Given the description of an element on the screen output the (x, y) to click on. 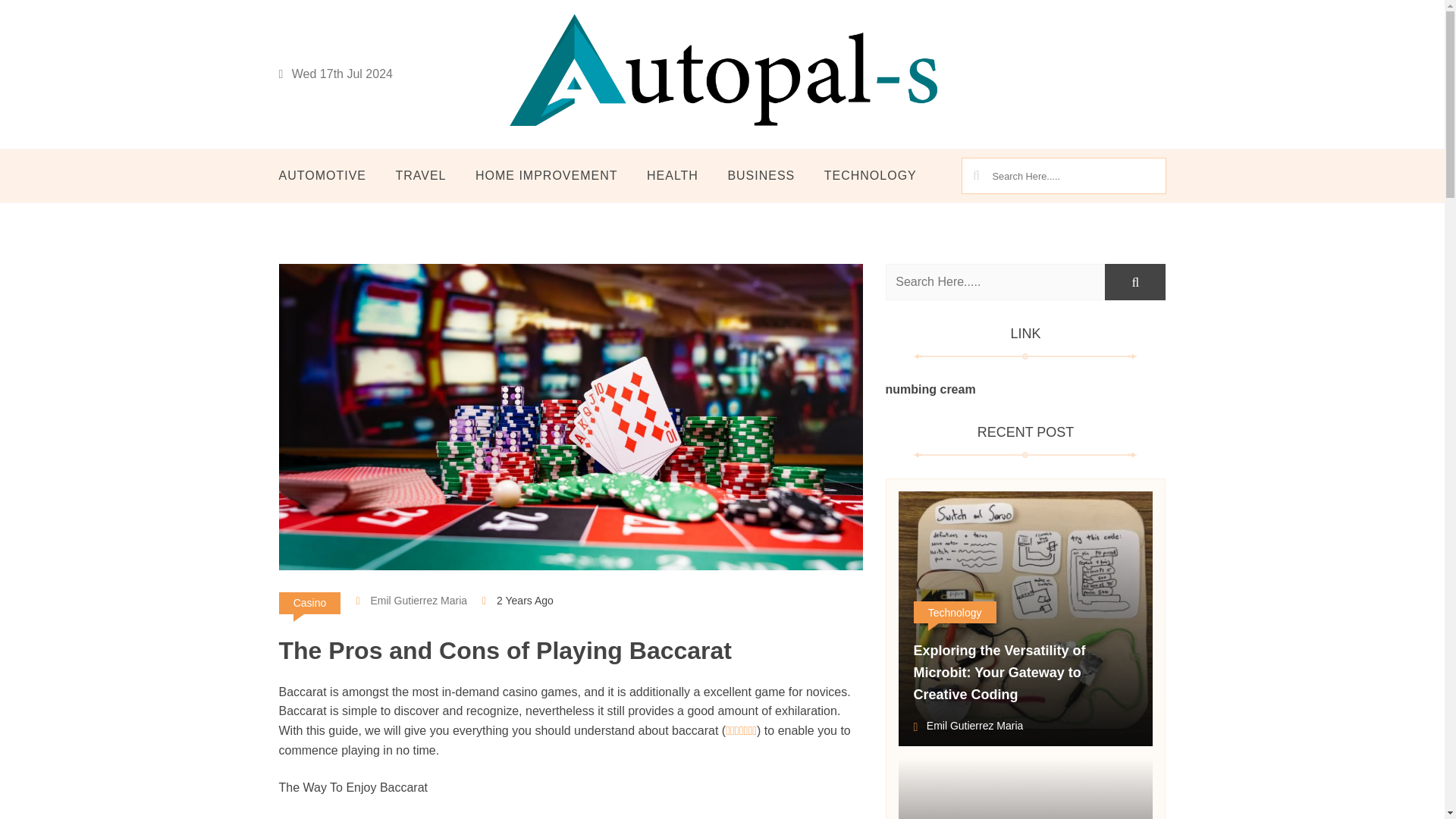
Casino (309, 603)
AUTOMOTIVE (329, 175)
Technology (953, 612)
AUTOPAL-S (576, 155)
BUSINESS (761, 175)
TRAVEL (419, 175)
2 Years Ago (524, 600)
HOME IMPROVEMENT (546, 175)
Emil Gutierrez Maria (967, 727)
HEALTH (672, 175)
TECHNOLOGY (870, 175)
numbing cream (930, 389)
Emil Gutierrez Maria (411, 600)
